Given the description of an element on the screen output the (x, y) to click on. 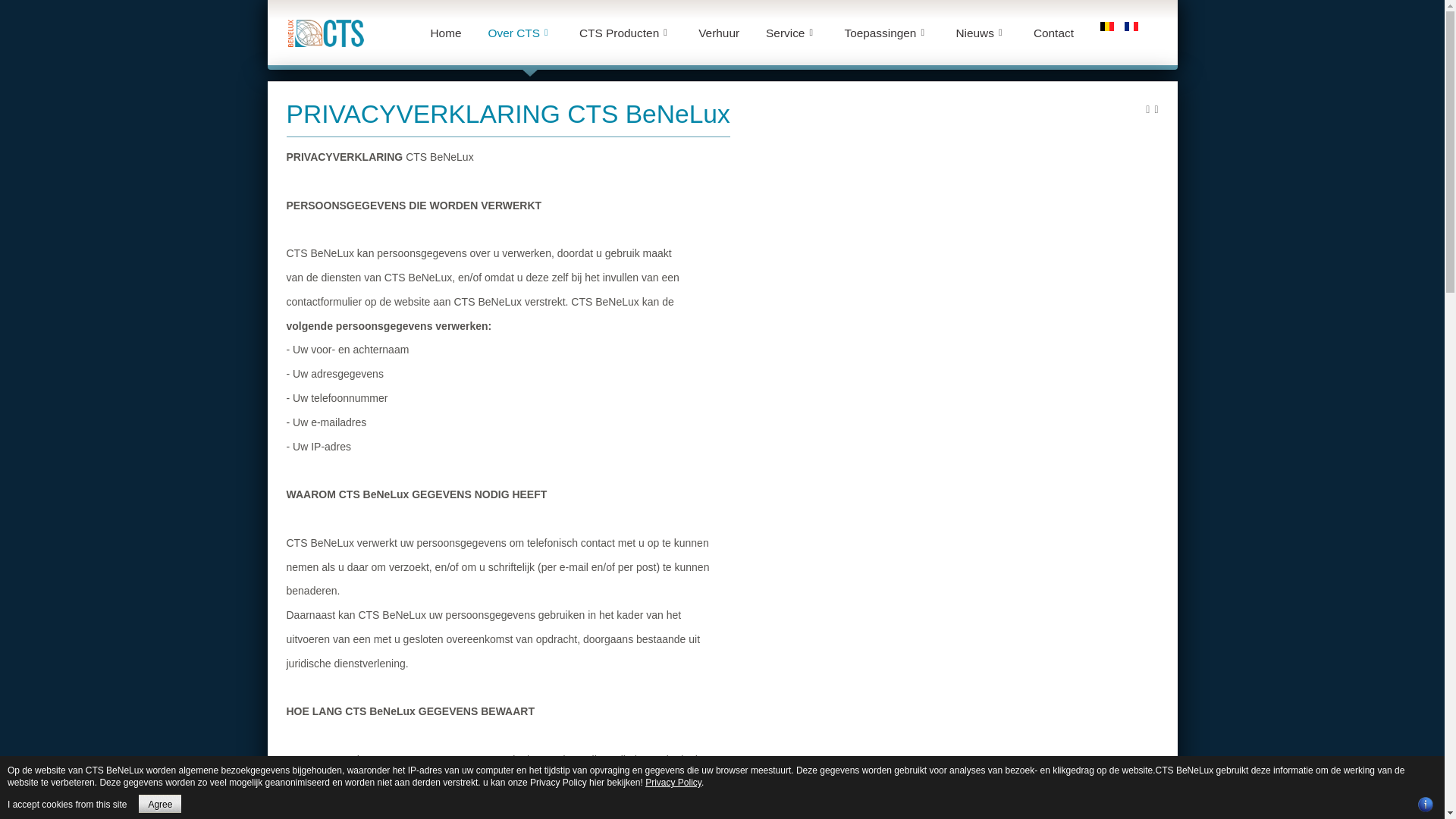
E-mail deze link naar een vriend/vriendin Element type: hover (1155, 109)
Nieuws Element type: text (980, 32)
Toepassingen Element type: text (886, 32)
Agree Element type: text (159, 803)
Home Element type: text (449, 32)
Flemish (Belgium)  Element type: hover (1106, 26)
EU Cookie Directive plugin by www.channeldigital.co.uk Element type: hover (1425, 804)
CTS Producten Element type: text (625, 32)
Contact Element type: text (1057, 32)
Service Element type: text (791, 32)
French (fr-FR)  Element type: hover (1131, 26)
Over CTS Element type: text (520, 32)
Privacy Policy Element type: text (673, 782)
Print artikel < PRIVACYVERKLARING CTS BeNeLux > Element type: hover (1147, 109)
PRIVACYVERKLARING CTS BeNeLux Element type: text (508, 114)
Verhuur Element type: text (722, 32)
